Given the description of an element on the screen output the (x, y) to click on. 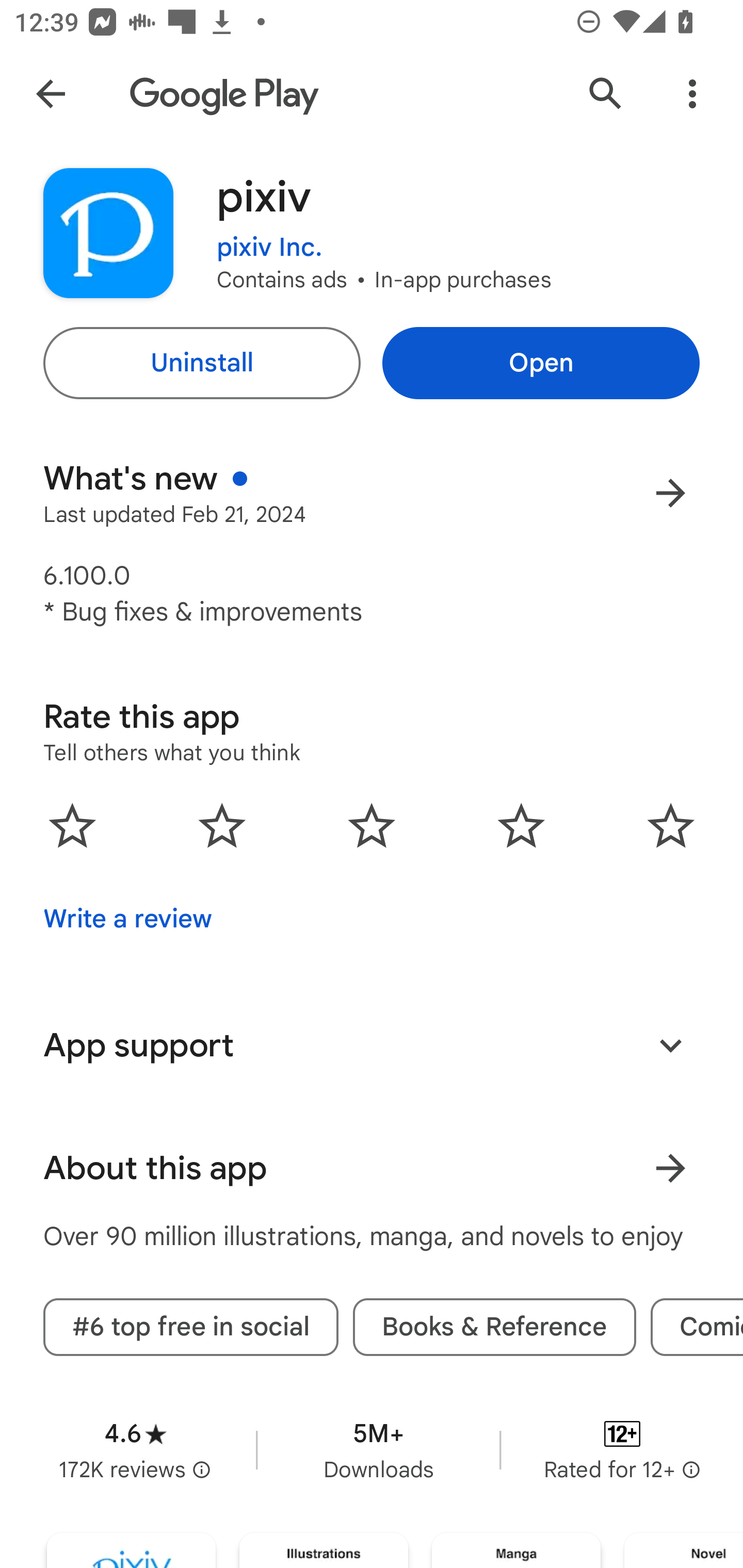
Navigate up (50, 93)
Search Google Play (605, 93)
More Options (692, 93)
pixiv Inc. (269, 233)
Uninstall (201, 362)
Open (540, 362)
More results for What's new (670, 493)
0.0 (371, 825)
Write a review (127, 919)
App support Expand (371, 1045)
Expand (670, 1044)
About this app Learn more About this app (371, 1167)
Learn more About this app (670, 1168)
#6 top free in social tag (190, 1327)
Books & Reference tag (494, 1327)
Average rating 4.6 stars in 172 thousand reviews (135, 1450)
Content rating Rated for 12+ (622, 1450)
Screenshot "2" of "4" (323, 1550)
Screenshot "3" of "4" (515, 1550)
Screenshot "4" of "4" (683, 1550)
